Given the description of an element on the screen output the (x, y) to click on. 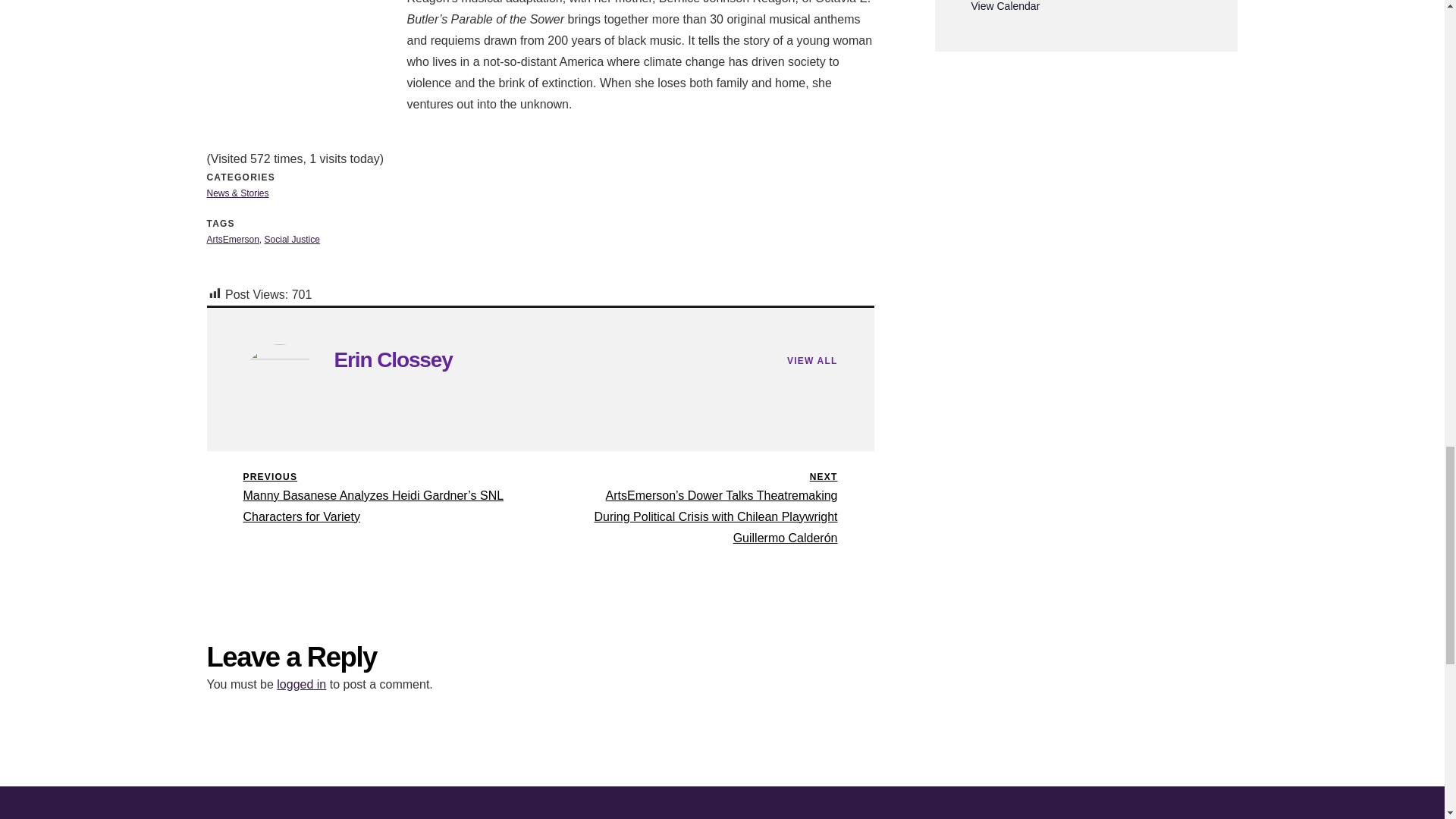
Social Justice (292, 239)
View more events. (1005, 6)
logged in (301, 684)
ArtsEmerson (392, 359)
